Given the description of an element on the screen output the (x, y) to click on. 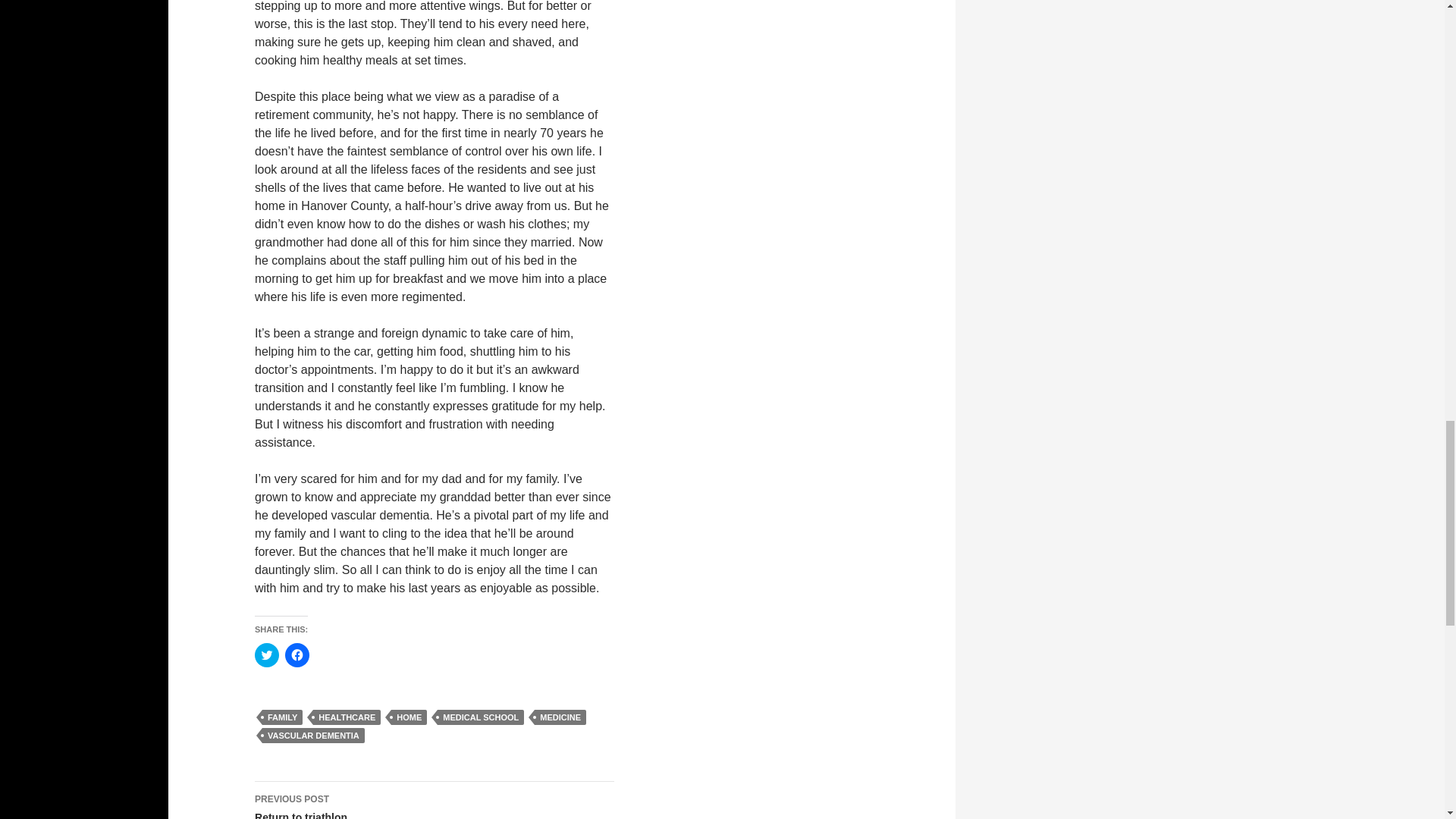
Click to share on Twitter (266, 654)
FAMILY (282, 717)
MEDICAL SCHOOL (481, 717)
Click to share on Facebook (296, 654)
HOME (408, 717)
VASCULAR DEMENTIA (434, 800)
HEALTHCARE (313, 735)
MEDICINE (346, 717)
